Given the description of an element on the screen output the (x, y) to click on. 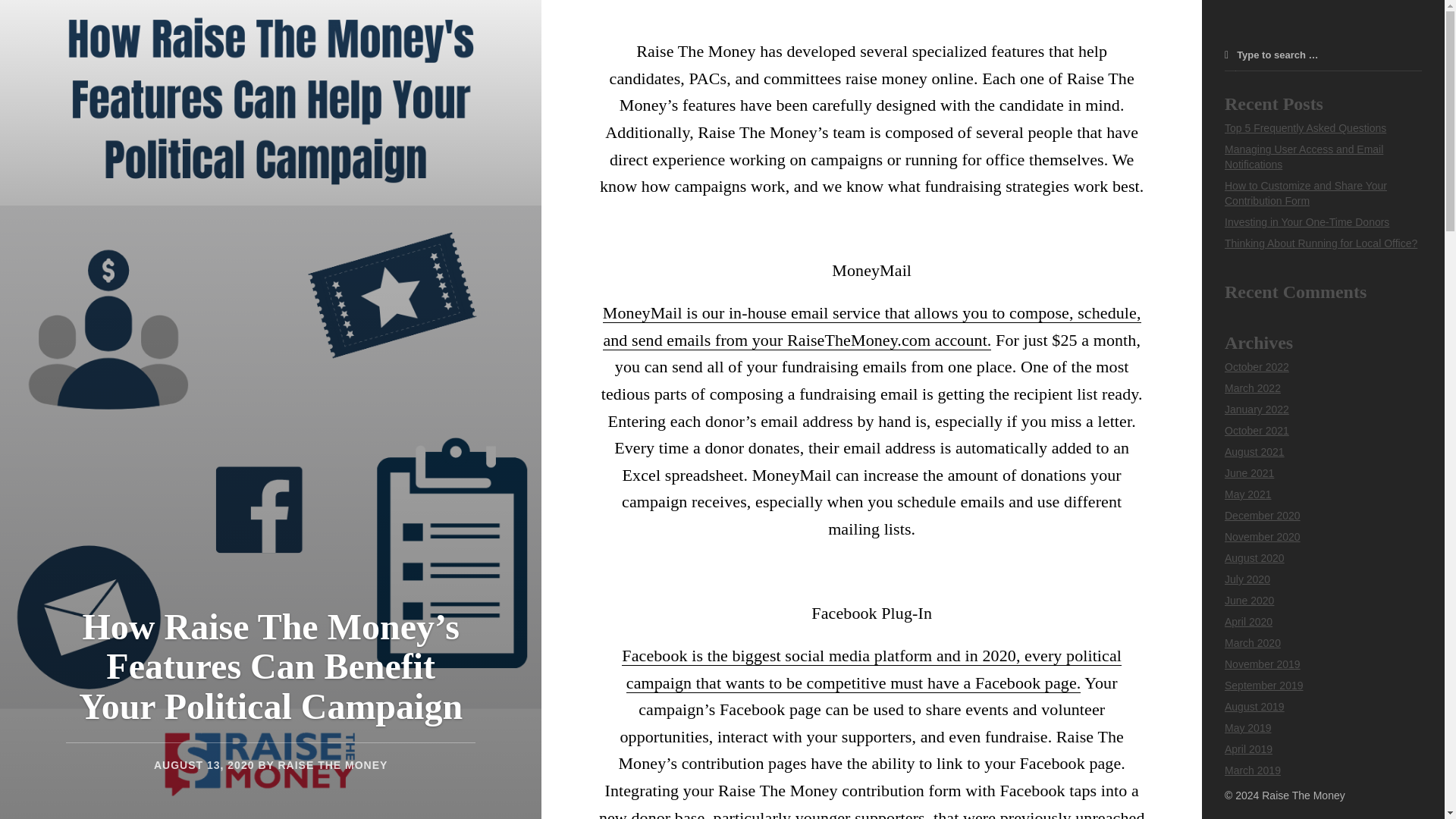
September 2019 (1263, 685)
June 2020 (1249, 600)
October 2022 (1256, 367)
April 2019 (1248, 748)
May 2019 (1247, 727)
January 2019 (1256, 791)
December 2020 (1262, 515)
May 2021 (1247, 494)
How to Customize and Share Your Contribution Form (1305, 193)
June 2021 (1249, 472)
